Given the description of an element on the screen output the (x, y) to click on. 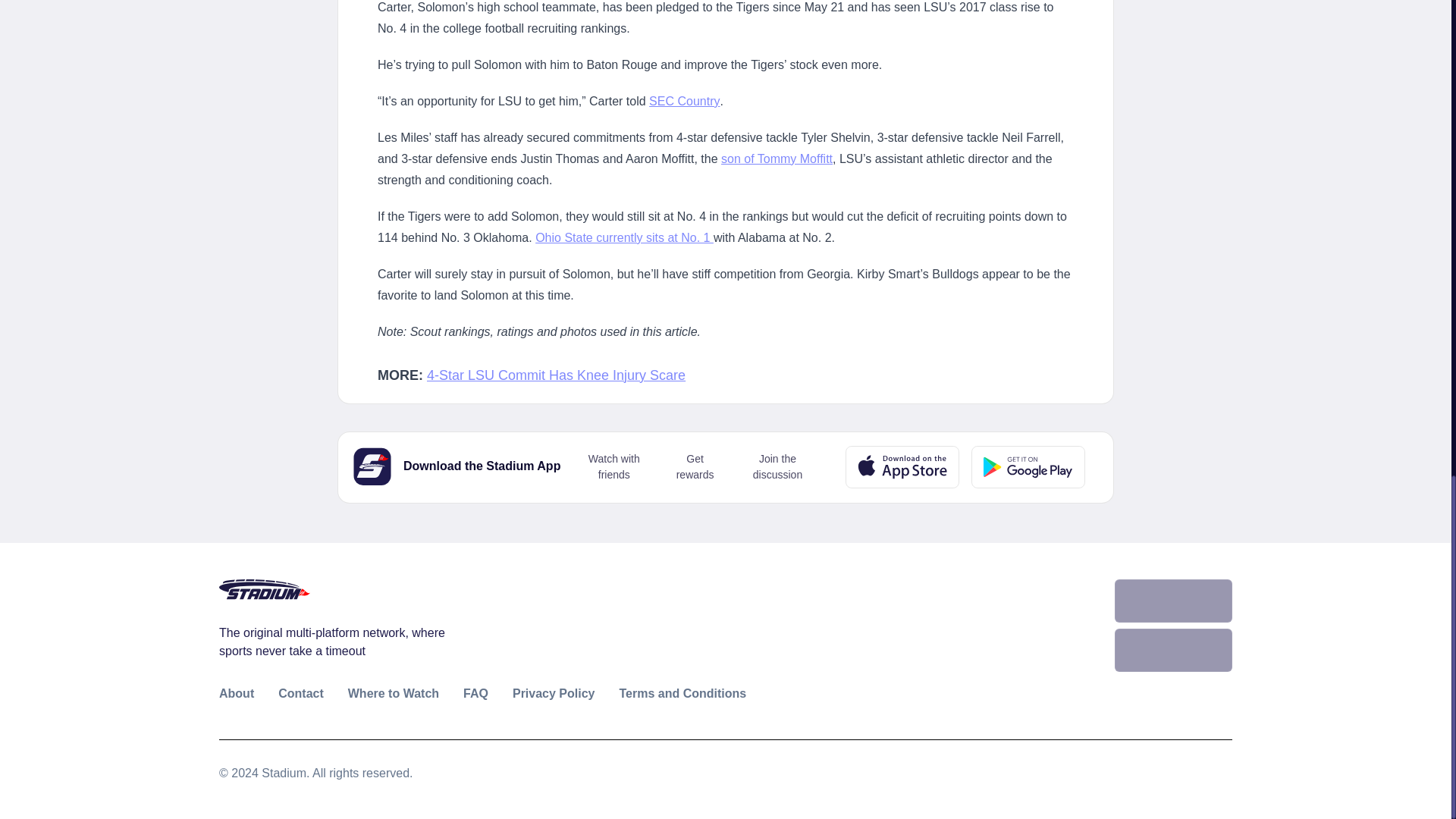
Where to Watch (393, 693)
Ohio State currently sits at No. 1 (624, 237)
4-Star LSU Commit Has Knee Injury Scare (555, 375)
Privacy Policy (553, 693)
Terms and Conditions (681, 693)
About (236, 693)
Contact (300, 693)
SEC Country (684, 101)
son of Tommy Moffitt (776, 158)
FAQ (475, 693)
